Given the description of an element on the screen output the (x, y) to click on. 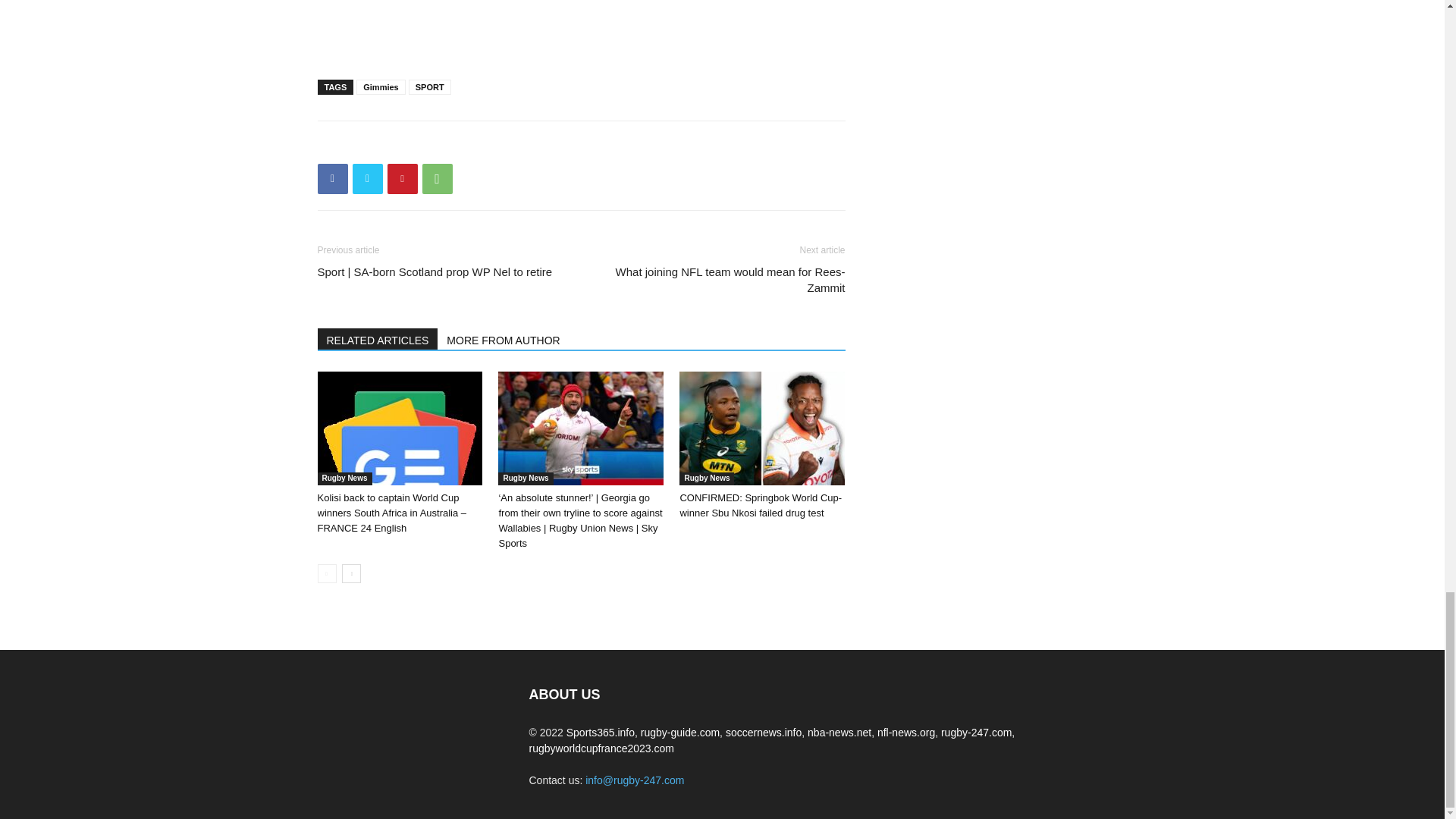
Advertisement (580, 25)
Facebook (332, 178)
bottomFacebookLike (430, 145)
